Given the description of an element on the screen output the (x, y) to click on. 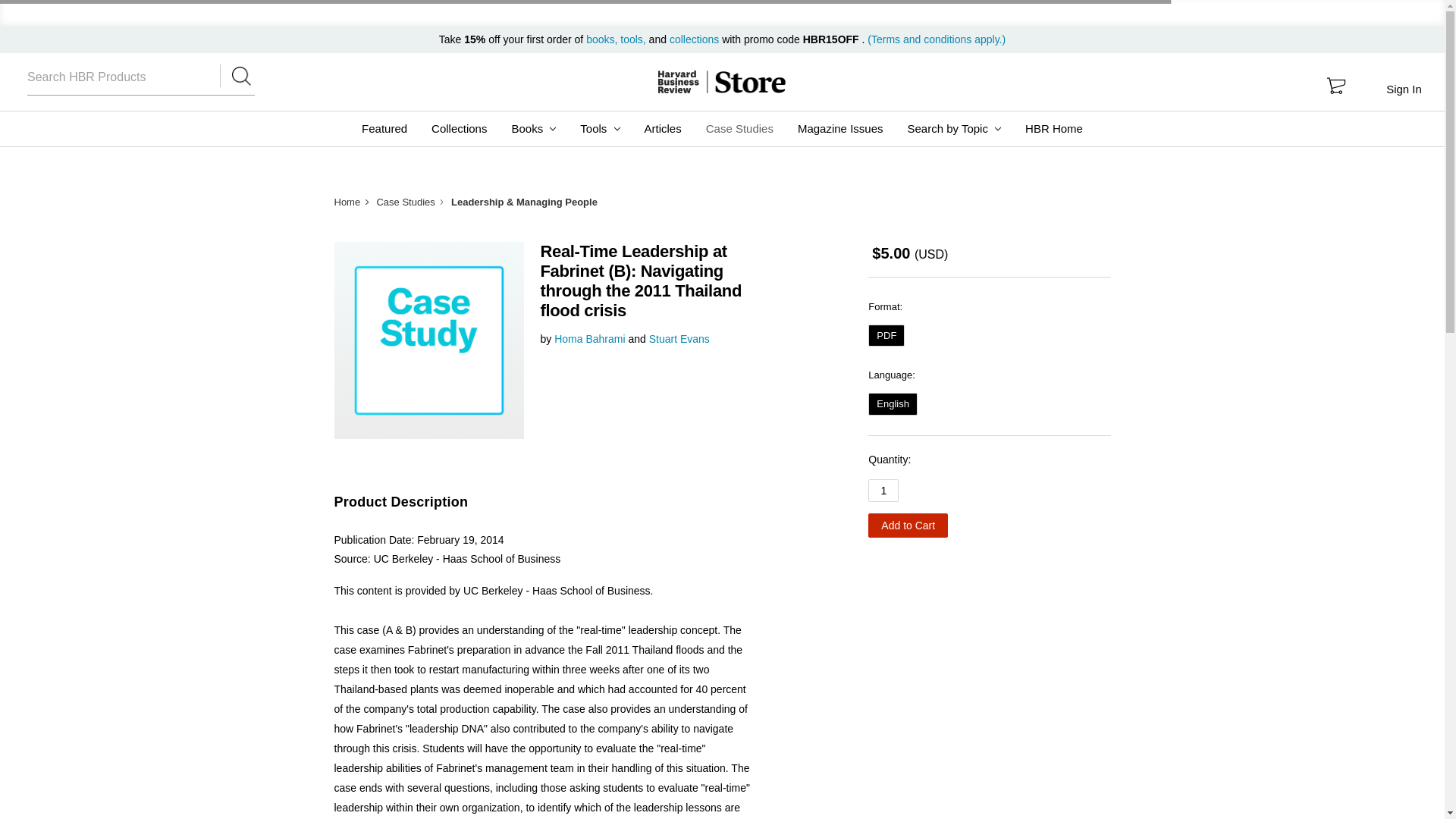
books, (603, 39)
tools, (632, 39)
HBR.ORG - Prod (678, 81)
Sign In (1403, 88)
collections (694, 39)
